Given the description of an element on the screen output the (x, y) to click on. 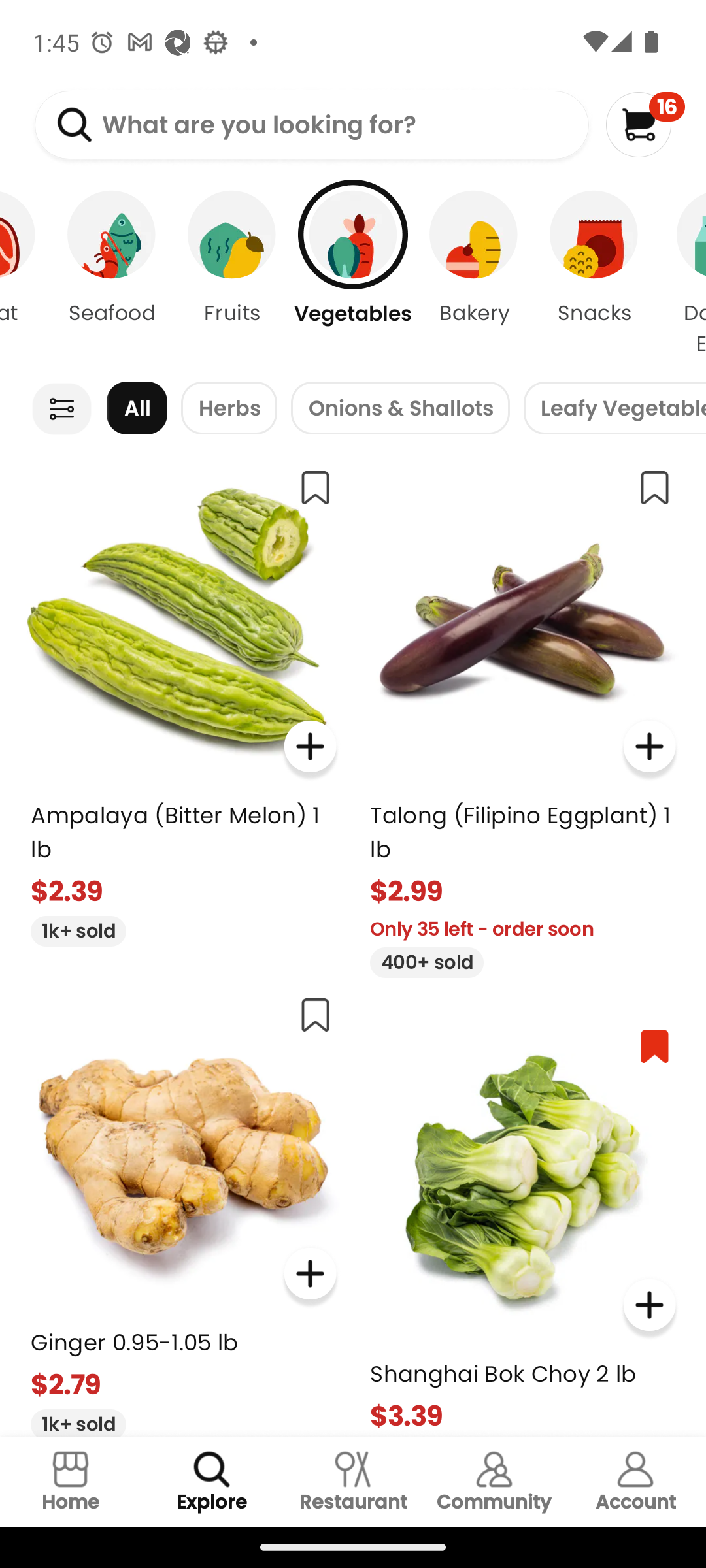
What are you looking for? (311, 124)
16 (644, 124)
Seafood (111, 274)
Fruits (232, 274)
Vegetables (352, 274)
Bakery (473, 274)
Snacks (593, 274)
All (136, 407)
Herbs (228, 407)
Onions & Shallots (399, 407)
Leafy Vegetables (614, 407)
Ampalaya (Bitter Melon) 1 lb $2.39 1k+ sold (182, 700)
Ginger 0.95-1.05 lb $2.79 1k+ sold (182, 1208)
Shanghai Bok Choy 2 lb $3.39 (522, 1224)
Home (70, 1482)
Explore (211, 1482)
Restaurant (352, 1482)
Community (493, 1482)
Account (635, 1482)
